Given the description of an element on the screen output the (x, y) to click on. 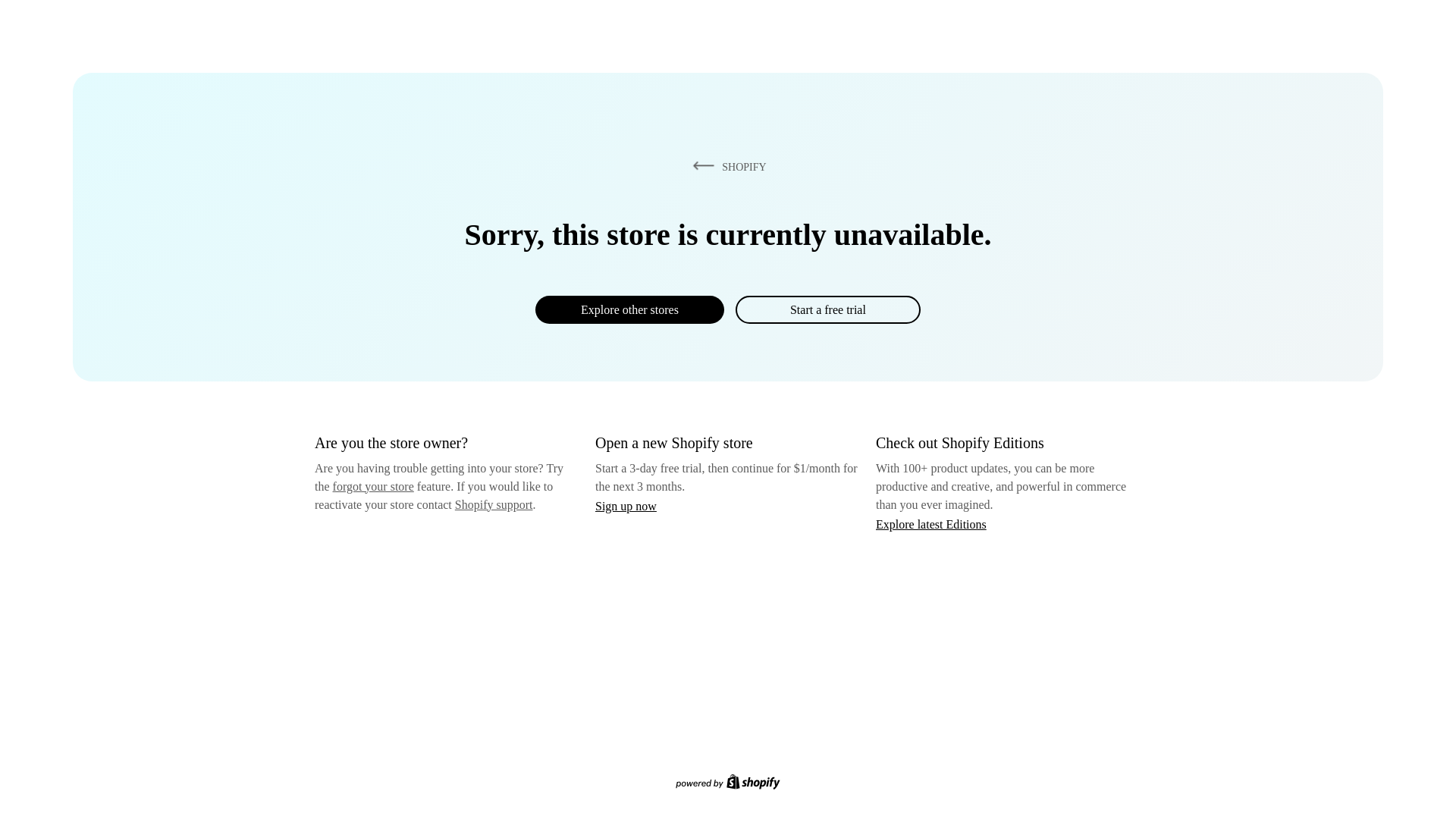
SHOPIFY (726, 166)
Explore other stores (629, 309)
Shopify support (493, 504)
Start a free trial (827, 309)
forgot your store (373, 486)
Sign up now (625, 505)
Explore latest Editions (931, 523)
